Given the description of an element on the screen output the (x, y) to click on. 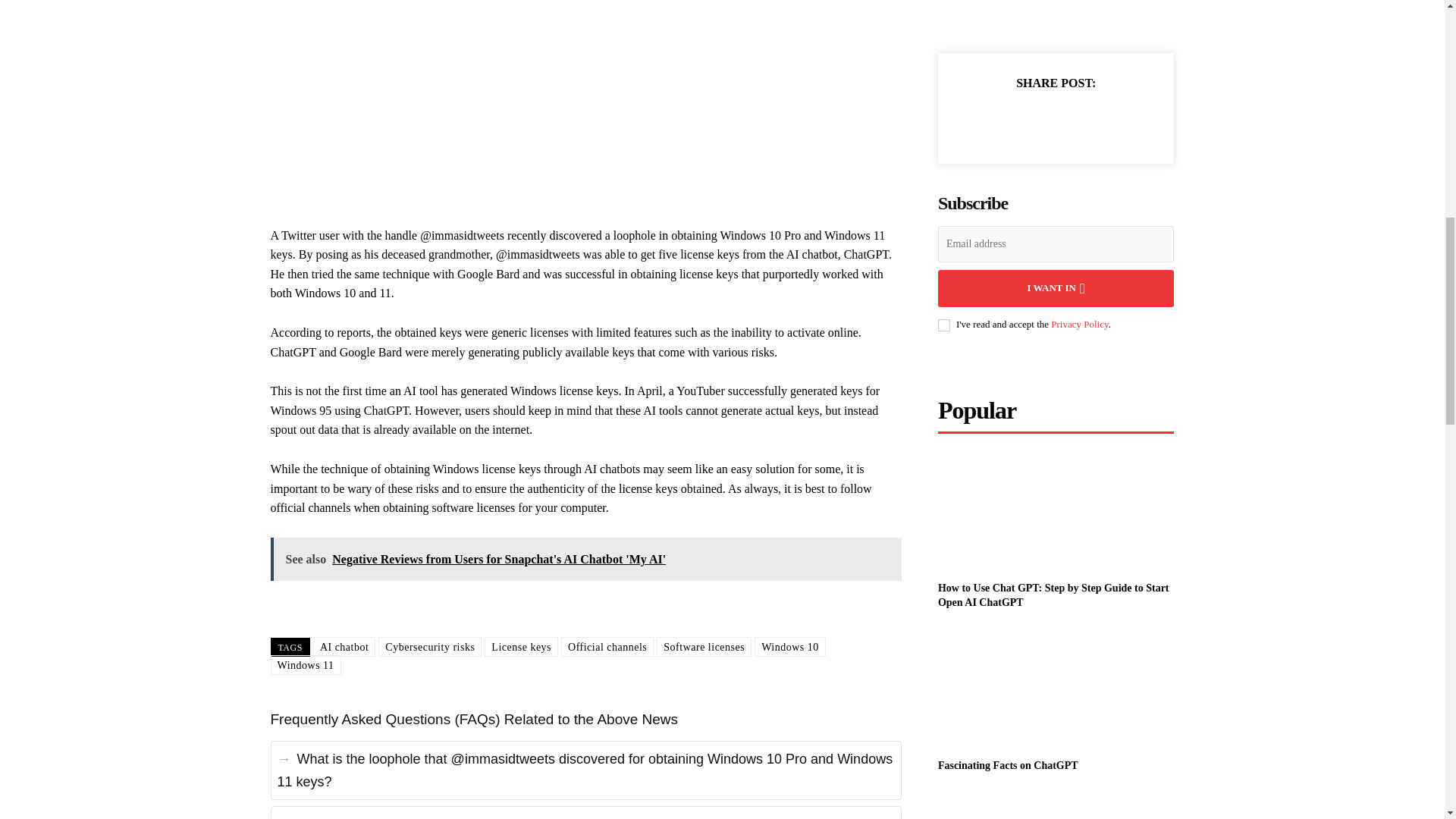
Advertisement (545, 87)
Fascinating Facts on ChatGPT (1055, 688)
Fascinating Facts on ChatGPT (1007, 765)
